Given the description of an element on the screen output the (x, y) to click on. 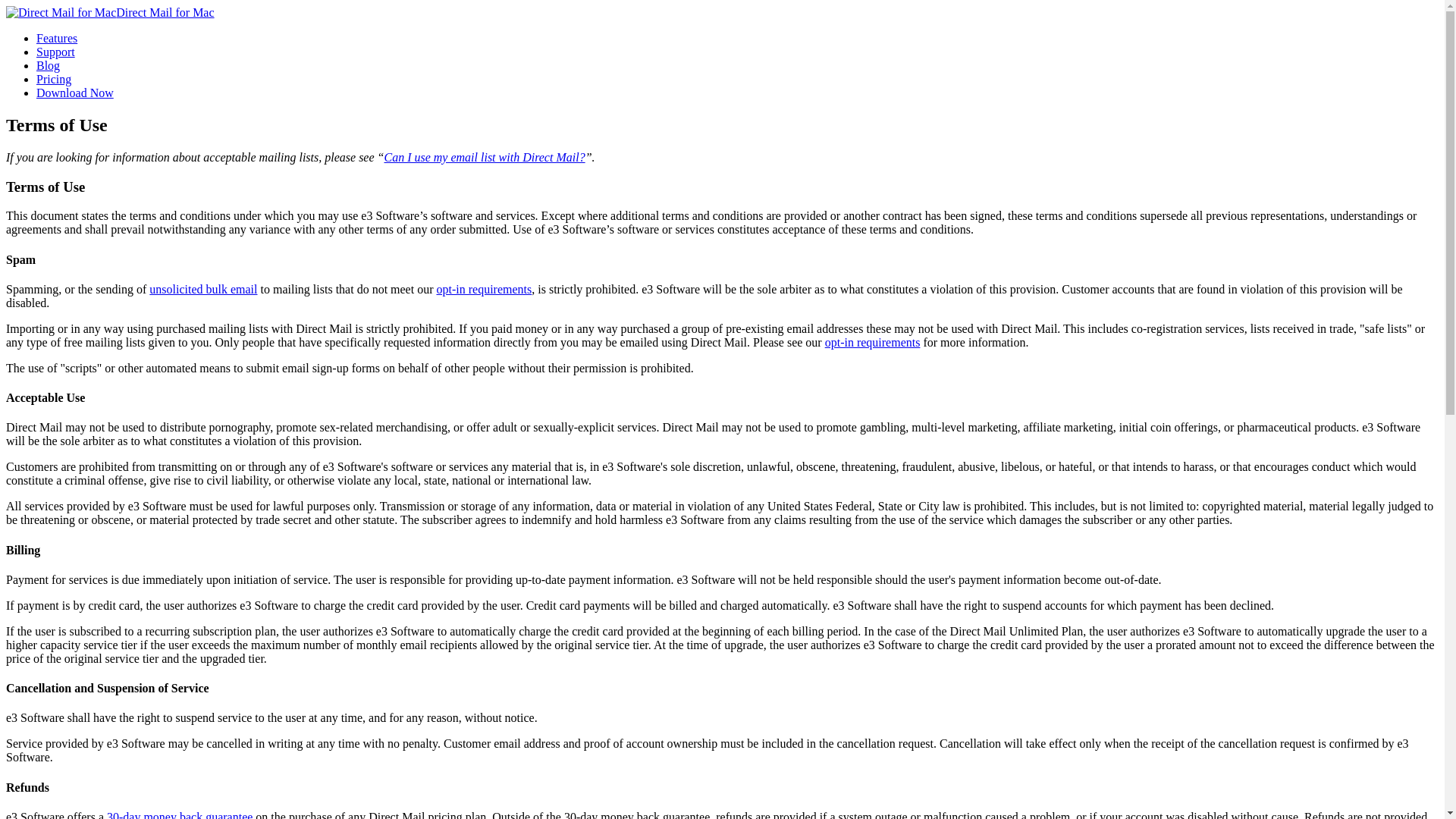
Pricing (53, 78)
unsolicited bulk email (203, 288)
opt-in requirements (872, 341)
Download Now (74, 92)
Blog (47, 65)
Support (55, 51)
Can I use my email list with Direct Mail? (484, 156)
Direct Mail for Mac (109, 11)
30-day money back guarantee (178, 814)
opt-in requirements (484, 288)
